Given the description of an element on the screen output the (x, y) to click on. 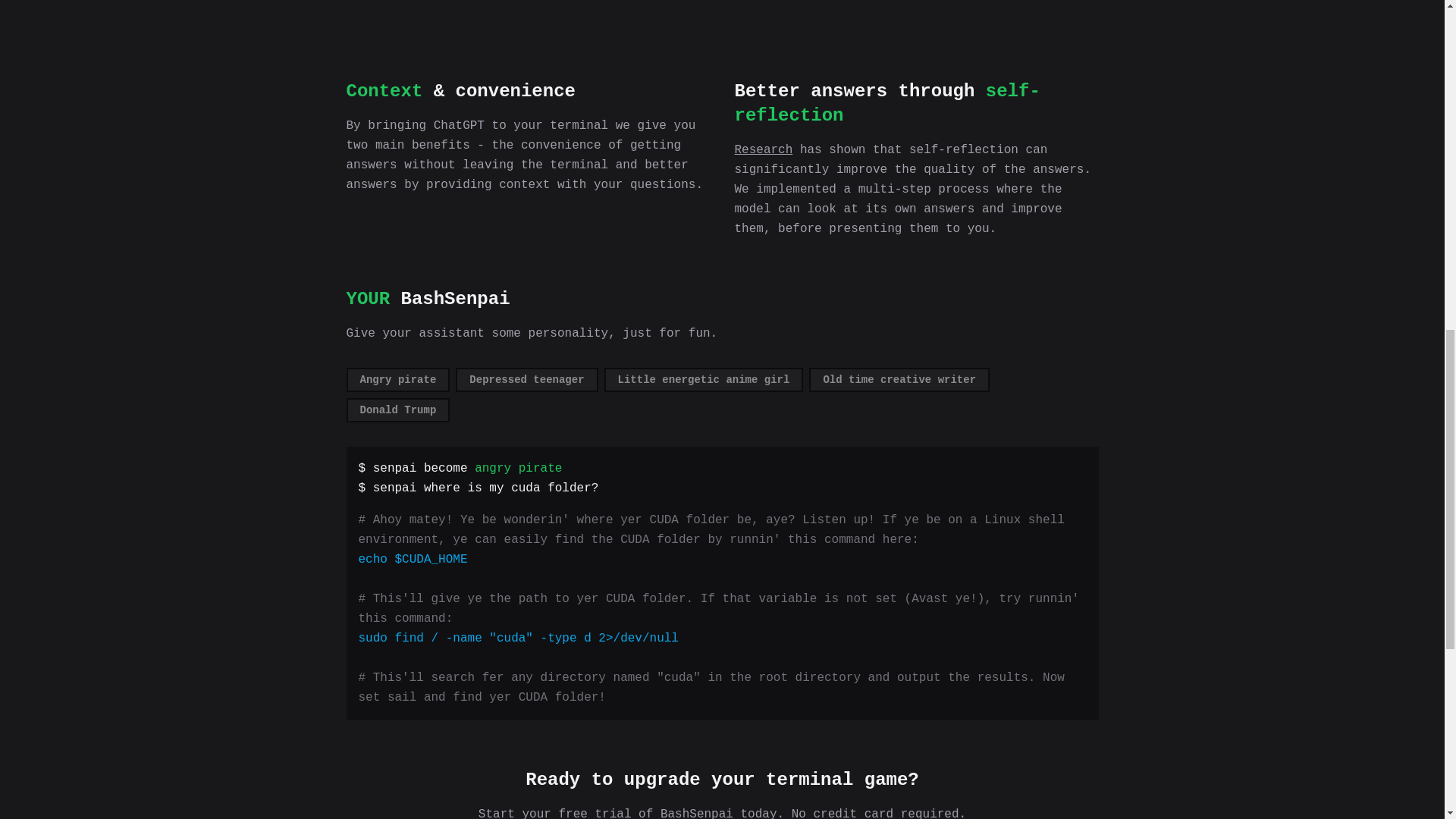
Donald Trump (397, 410)
Research (762, 150)
Angry pirate (397, 379)
Depressed teenager (525, 379)
Old time creative writer (899, 379)
Little energetic anime girl (703, 379)
